Given the description of an element on the screen output the (x, y) to click on. 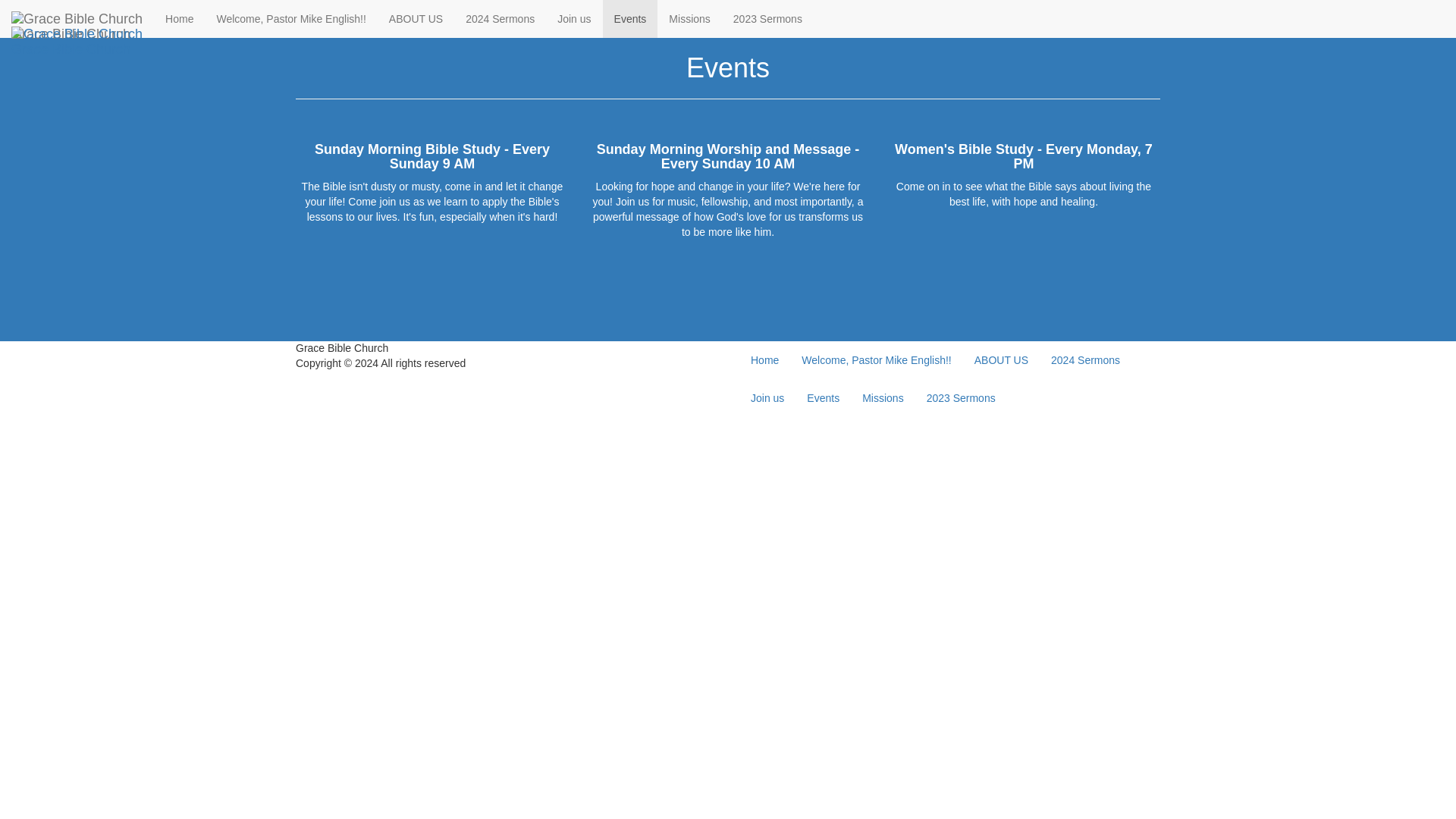
Events (630, 18)
ABOUT US (415, 18)
Missions (689, 18)
Grace Bible Church (77, 18)
Welcome, Pastor Mike English!! (876, 360)
ABOUT US (1000, 360)
2023 Sermons (767, 18)
2024 Sermons (500, 18)
Home (764, 360)
2024 Sermons (1085, 360)
Join us (574, 18)
Grace Bible Church (77, 34)
Home (179, 18)
Welcome, Pastor Mike English!! (291, 18)
